Given the description of an element on the screen output the (x, y) to click on. 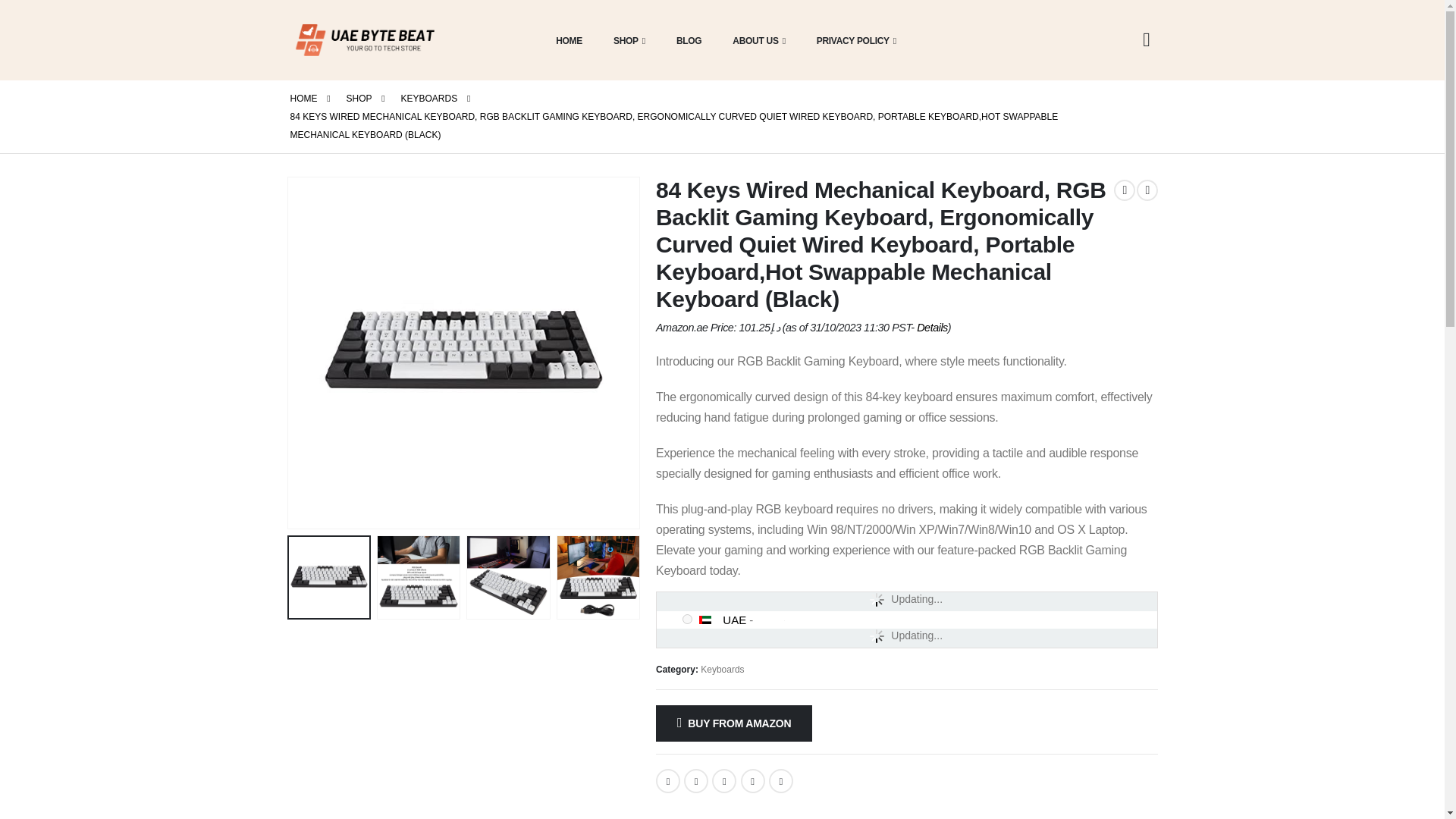
Details (932, 327)
PRIVACY POLICY (853, 39)
on (687, 619)
LinkedIn (723, 781)
HOME (303, 98)
BUY FROM AMAZON (734, 723)
HOME (564, 39)
Twitter (695, 781)
SHOP (625, 39)
SHOP (358, 98)
UAE Byte Beat - Quality Store (365, 39)
Keyboards (722, 669)
Go to Home Page (303, 98)
UAE (710, 619)
